Given the description of an element on the screen output the (x, y) to click on. 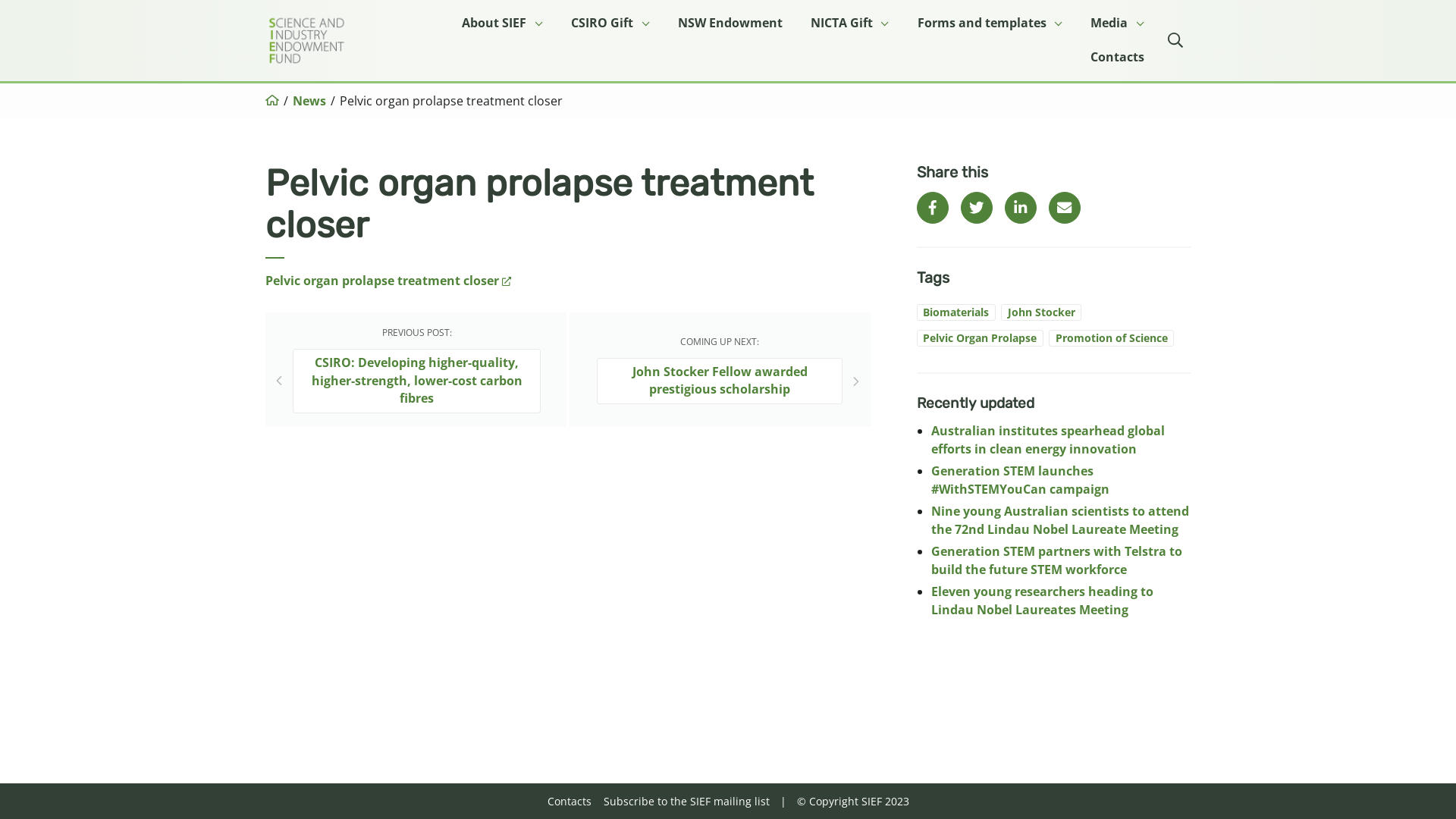
Generation STEM launches #WithSTEMYouCan campaign Element type: text (1020, 479)
Subscribe to the SIEF mailing list Element type: text (686, 800)
Contacts Element type: text (1117, 57)
Forms and templates Element type: text (990, 22)
About SIEF Element type: text (502, 22)
NICTA Gift Element type: text (849, 22)
John Stocker Element type: text (1041, 312)
Pelvic organ prolapse treatment closer Element type: text (388, 280)
Promotion of Science Element type: text (1110, 337)
CSIRO Gift Element type: text (610, 22)
Contacts Element type: text (569, 800)
News Element type: text (309, 100)
Biomaterials Element type: text (955, 312)
Pelvic Organ Prolapse Element type: text (979, 337)
John Stocker Fellow awarded prestigious scholarship Element type: text (718, 380)
NSW Endowment Element type: text (729, 22)
Media Element type: text (1117, 22)
